Given the description of an element on the screen output the (x, y) to click on. 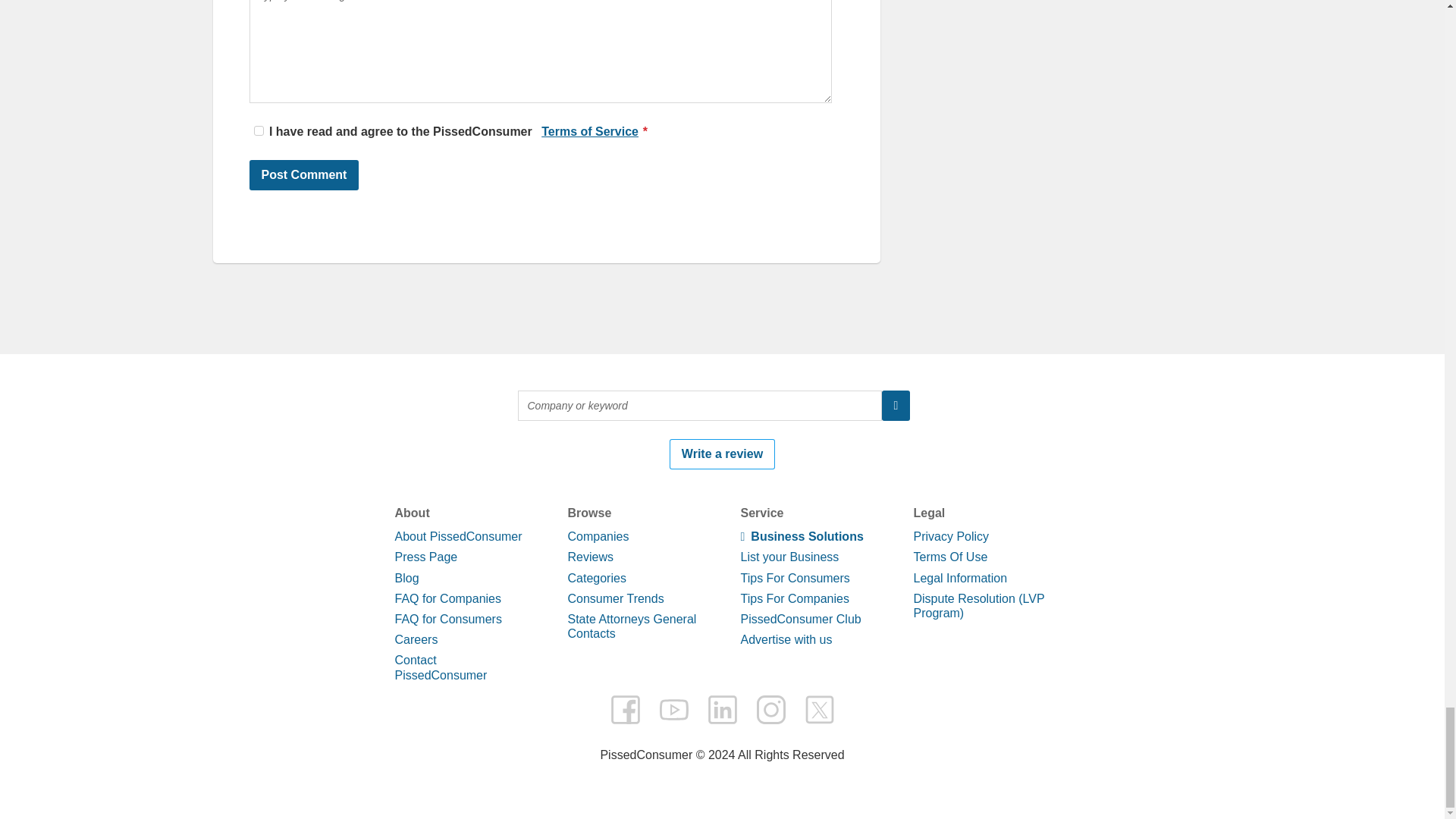
Post Comment (303, 174)
Post Comment (303, 174)
